Given the description of an element on the screen output the (x, y) to click on. 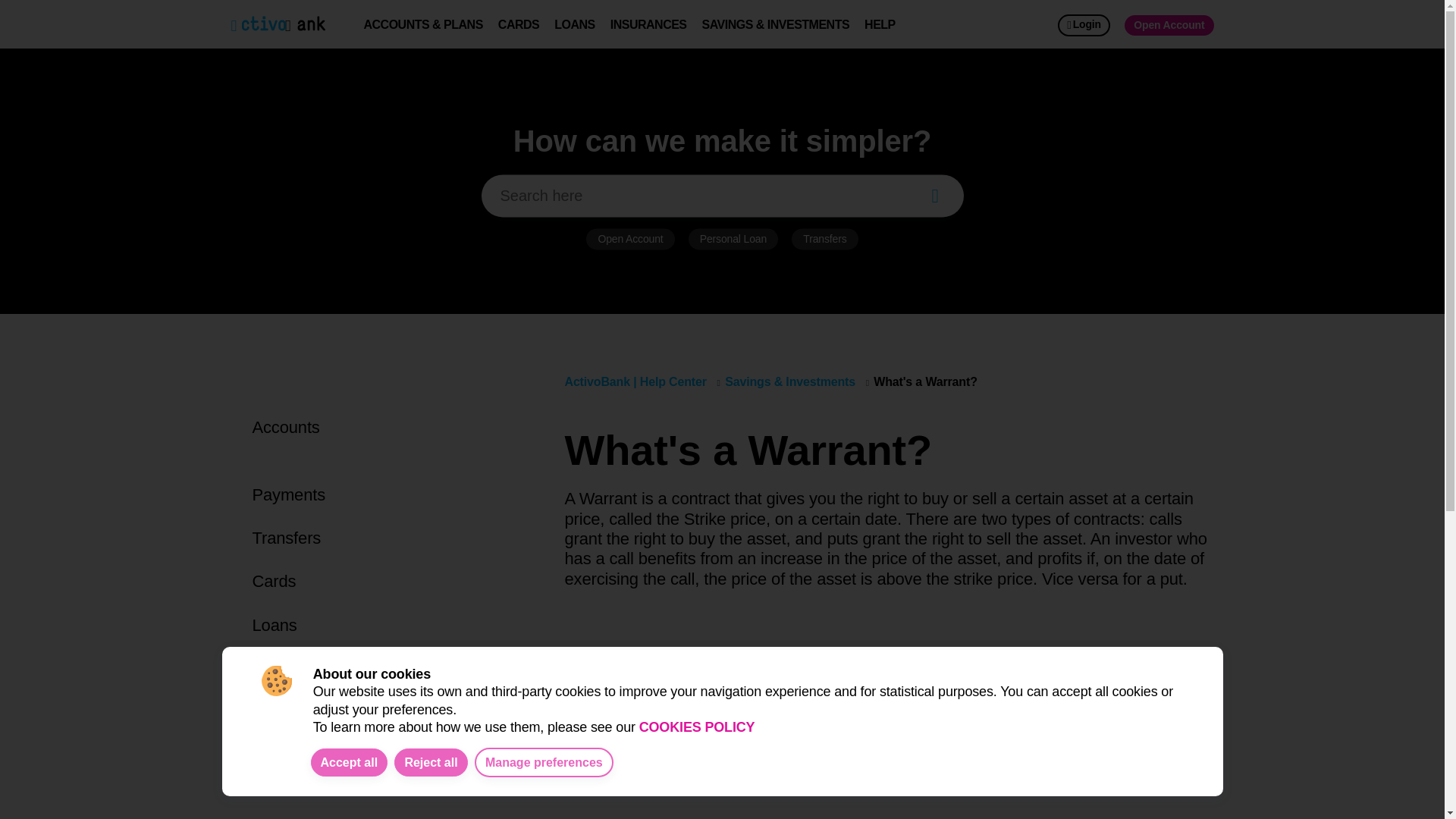
Manage preferences (543, 762)
Reject all (430, 762)
Accept all (349, 762)
